Given the description of an element on the screen output the (x, y) to click on. 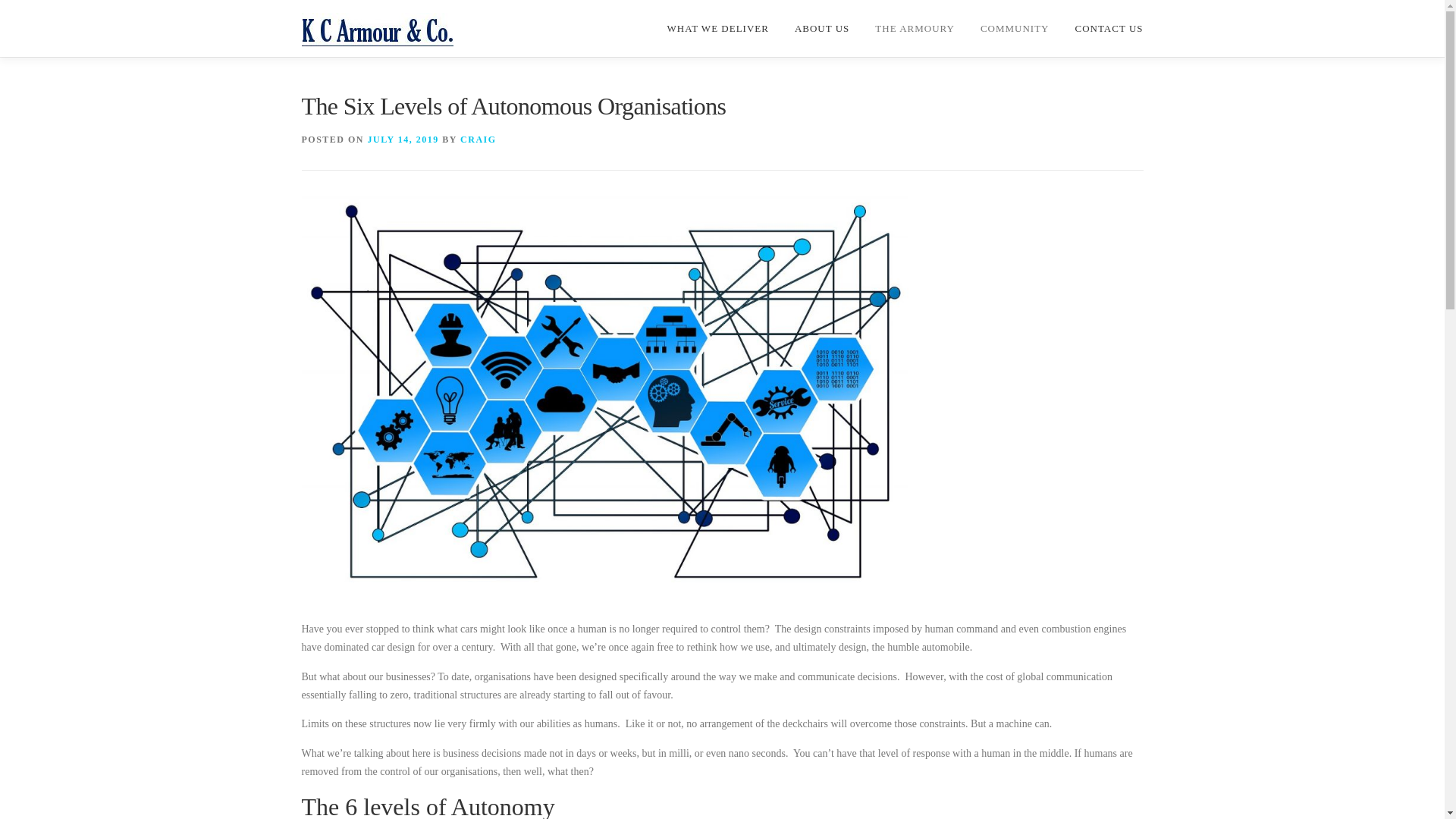
ABOUT US Element type: text (821, 28)
CRAIG Element type: text (478, 139)
WHAT WE DELIVER Element type: text (717, 28)
Skip to content Element type: text (0, 0)
THE ARMOURY Element type: text (914, 28)
CONTACT US Element type: text (1102, 28)
COMMUNITY Element type: text (1014, 28)
JULY 14, 2019 Element type: text (403, 139)
